Given the description of an element on the screen output the (x, y) to click on. 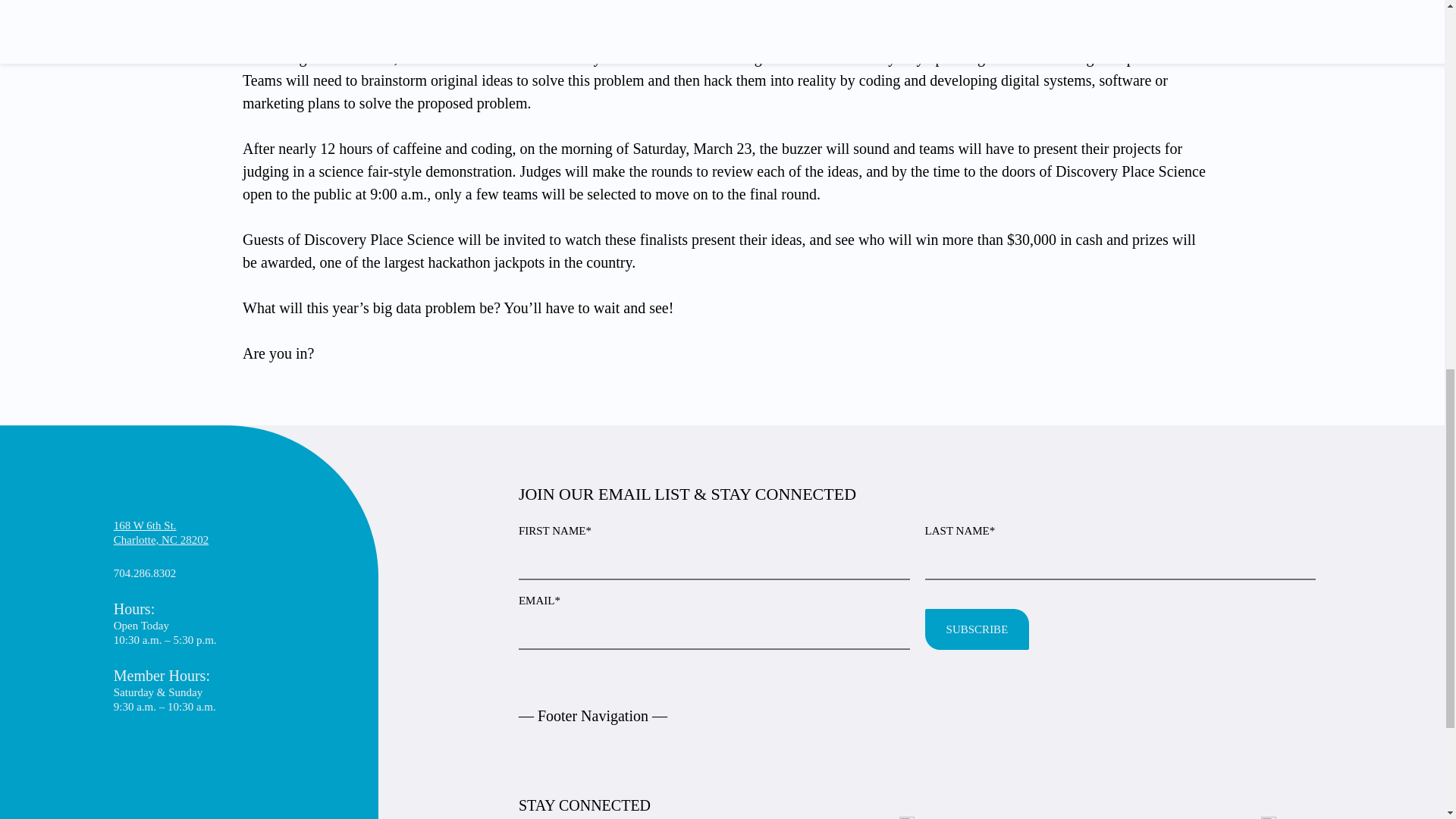
SUBSCRIBE (976, 629)
704.286.8302 (160, 532)
